Given the description of an element on the screen output the (x, y) to click on. 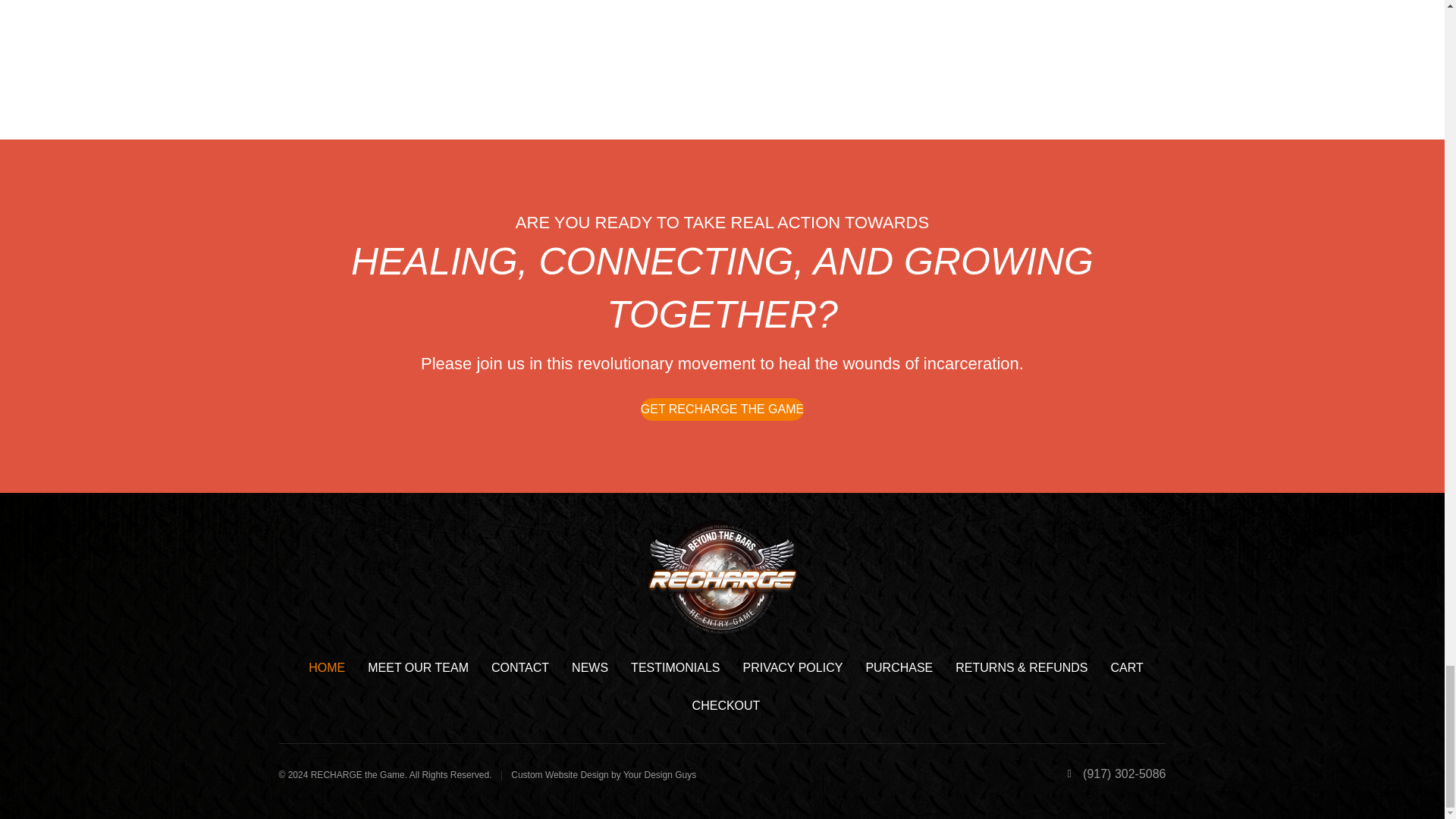
CONTACT (520, 668)
logo-main (721, 576)
NEWS (590, 668)
GET RECHARGE THE GAME (721, 409)
HOME (326, 668)
MEET OUR TEAM (418, 668)
